Given the description of an element on the screen output the (x, y) to click on. 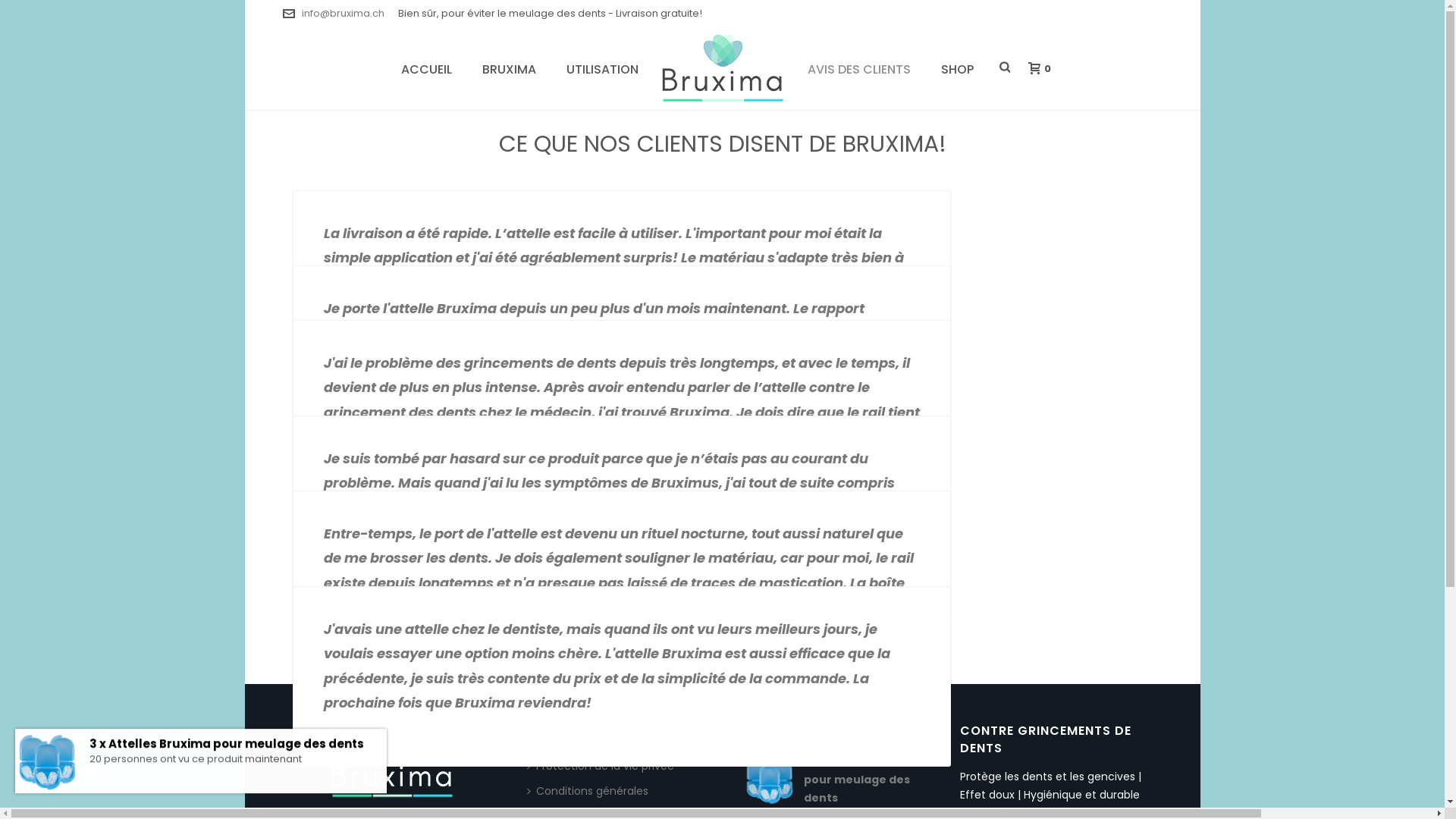
3 x Attelles Bruxima pour meulage des dents Element type: text (832, 779)
info@bruxima.ch Element type: text (342, 13)
ACCUEIL Element type: text (426, 67)
Bruxima Element type: hover (722, 67)
AVIS DES CLIENTS Element type: text (858, 67)
BRUXIMA Element type: text (509, 67)
UTILISATION Element type: text (602, 67)
bruxima-logo Element type: hover (392, 763)
0 Element type: text (1035, 67)
3 x Attelles Bruxima pour meulage des dents Element type: text (226, 756)
SHOP Element type: text (956, 67)
